Given the description of an element on the screen output the (x, y) to click on. 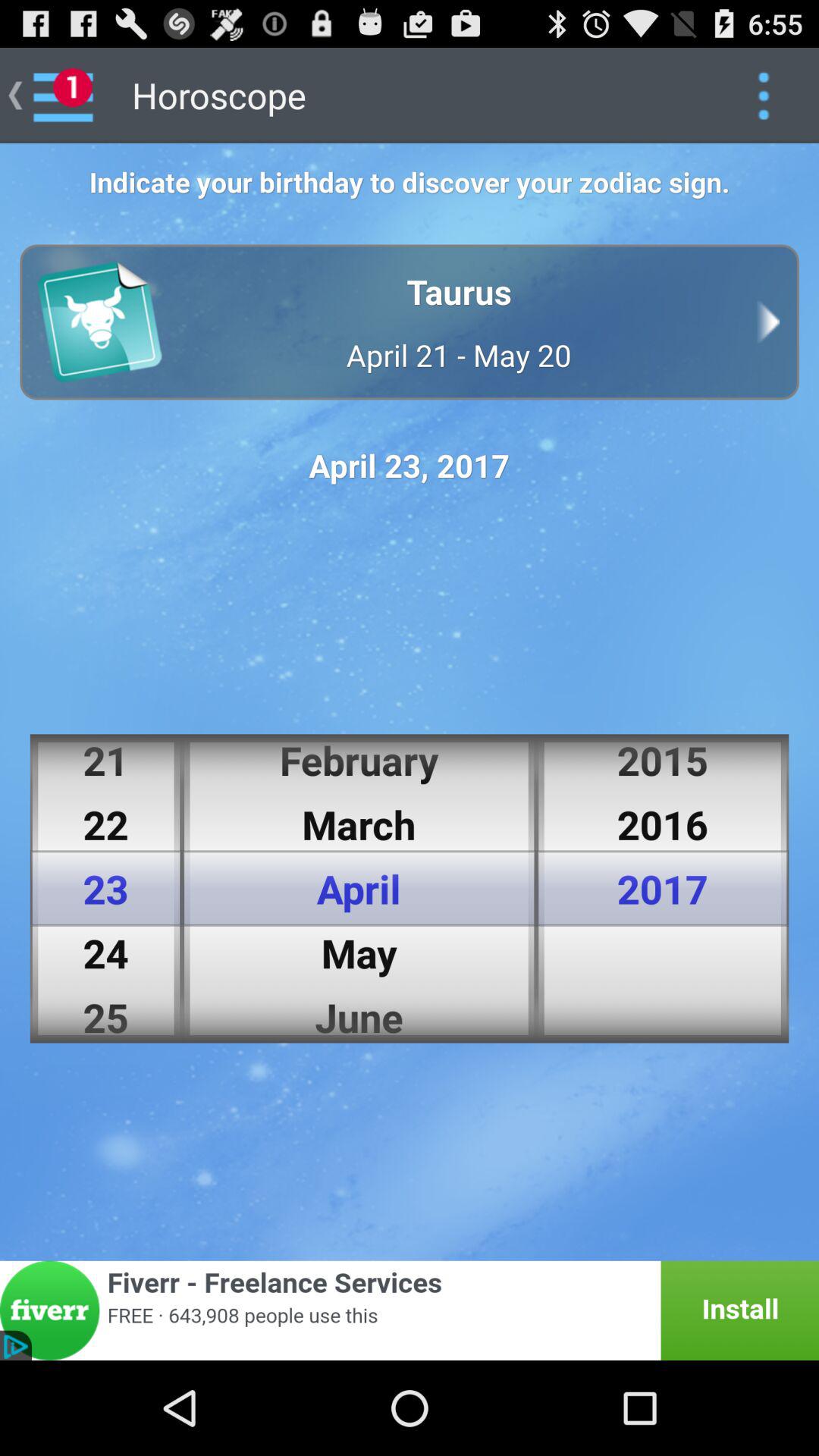
menu (763, 95)
